Given the description of an element on the screen output the (x, y) to click on. 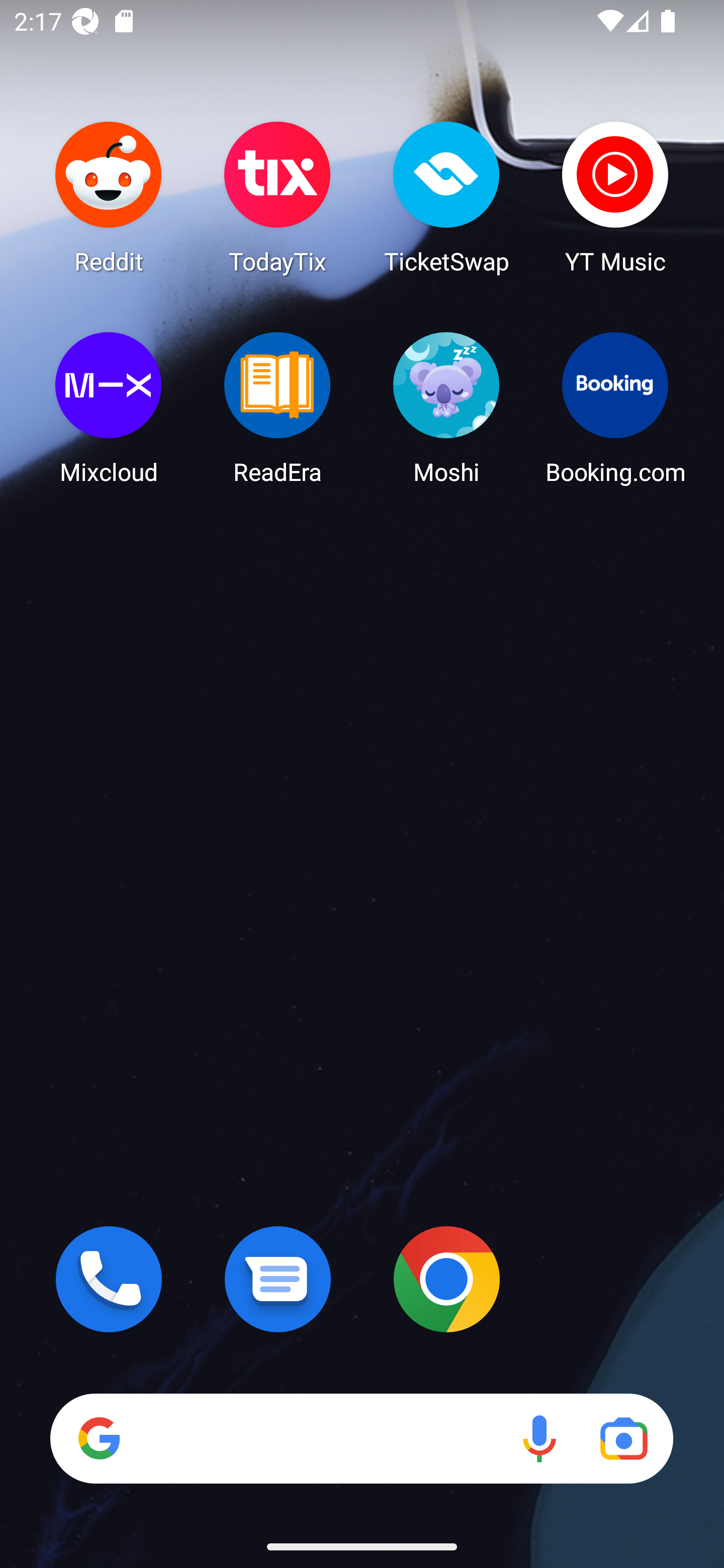
Reddit (108, 196)
TodayTix (277, 196)
TicketSwap (445, 196)
YT Music (615, 196)
Mixcloud (108, 407)
ReadEra (277, 407)
Moshi (445, 407)
Booking.com (615, 407)
Phone (108, 1279)
Messages (277, 1279)
Chrome (446, 1279)
Search Voice search Google Lens (361, 1438)
Voice search (539, 1438)
Google Lens (623, 1438)
